Given the description of an element on the screen output the (x, y) to click on. 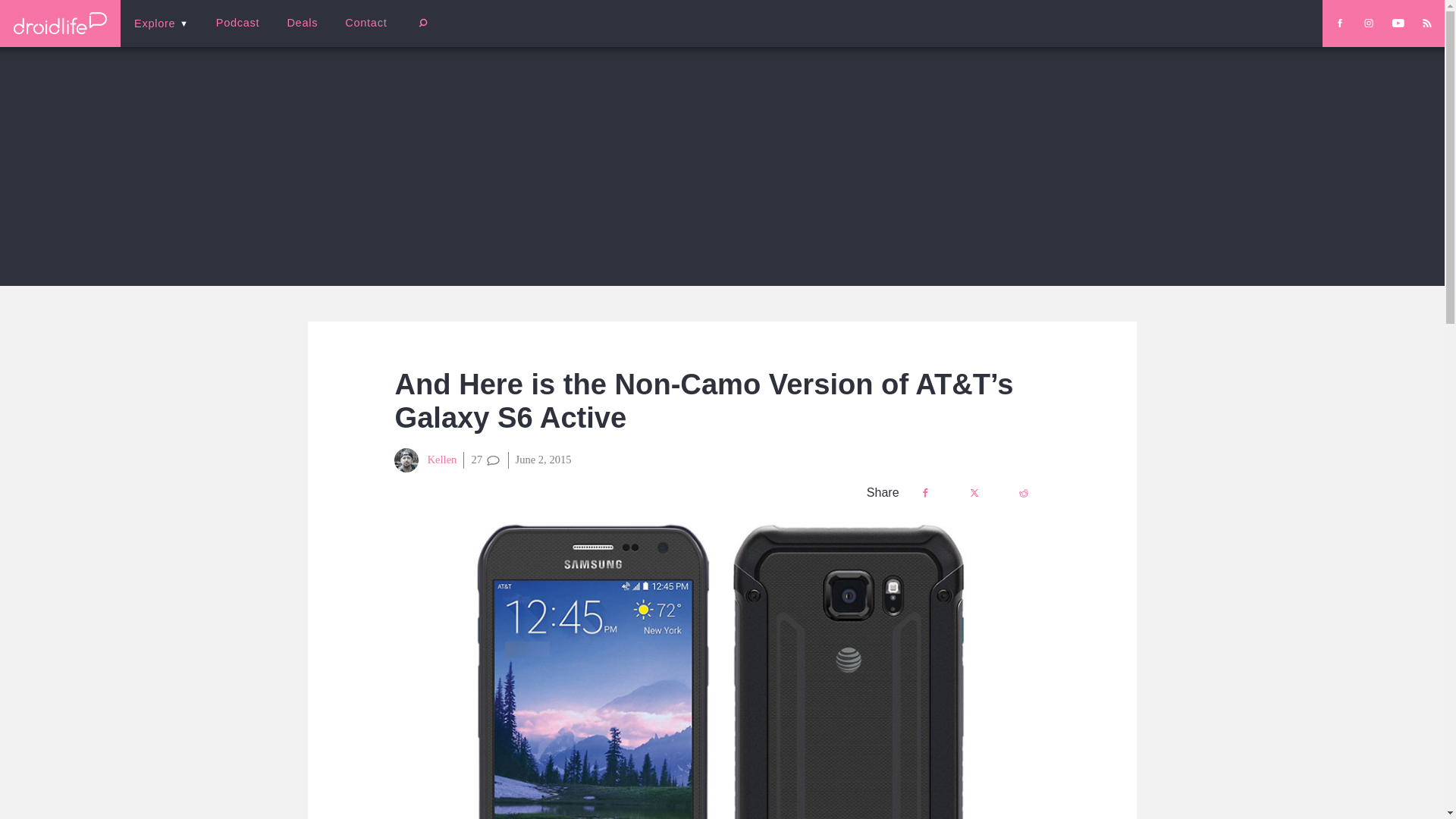
Explore (161, 23)
Droid Life RSS (1426, 23)
Droid Life on Instagram (1368, 23)
Podcast (237, 23)
Beginners' Guide (360, 33)
Droid Life on YouTube (1398, 23)
Kellen (425, 459)
Contact (365, 23)
Droid Life on Facebook (1339, 23)
Deals (302, 23)
